Given the description of an element on the screen output the (x, y) to click on. 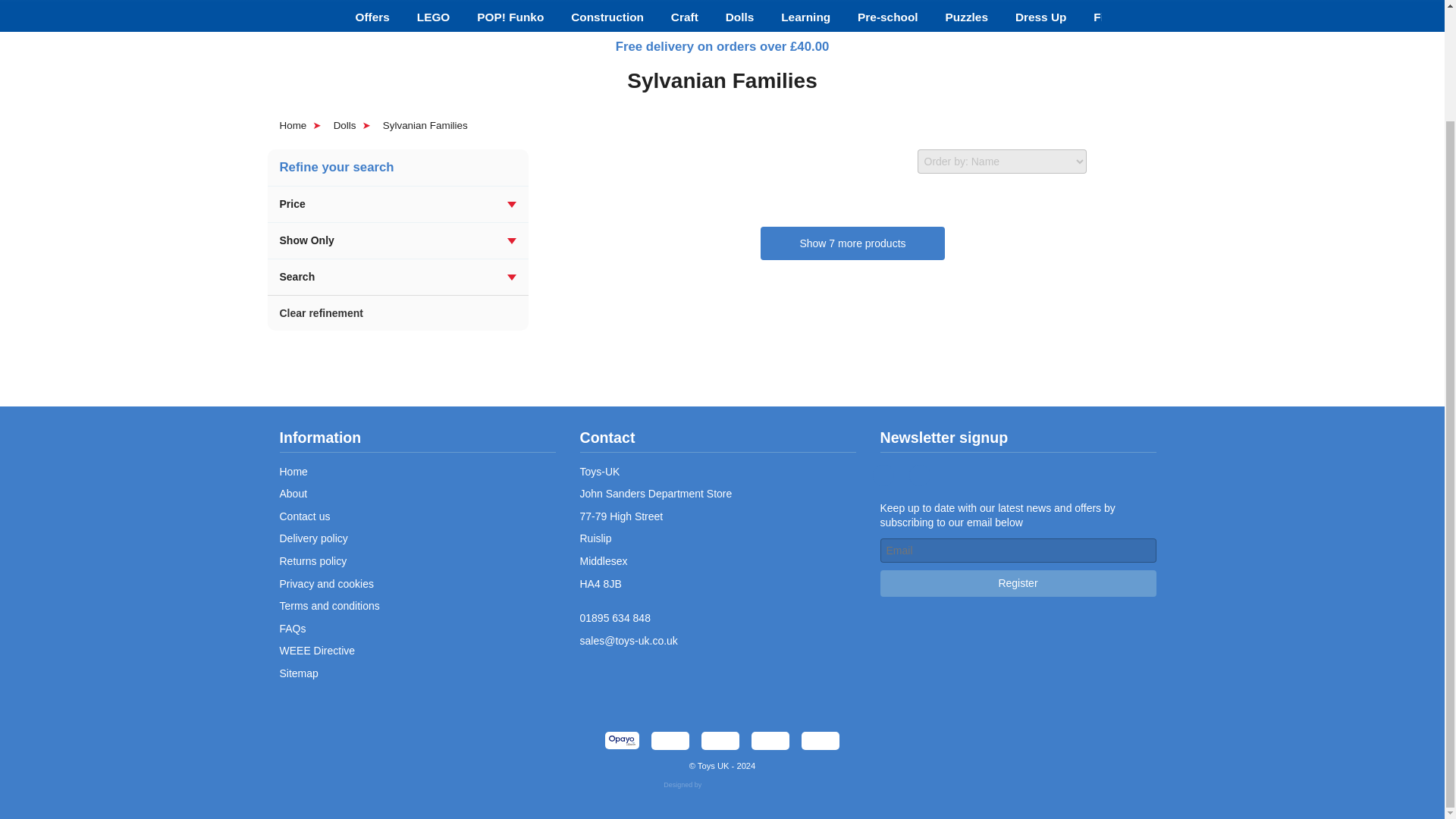
Thumbnail view (1109, 161)
LEGO (433, 16)
List view (1146, 161)
Offers (371, 16)
